Given the description of an element on the screen output the (x, y) to click on. 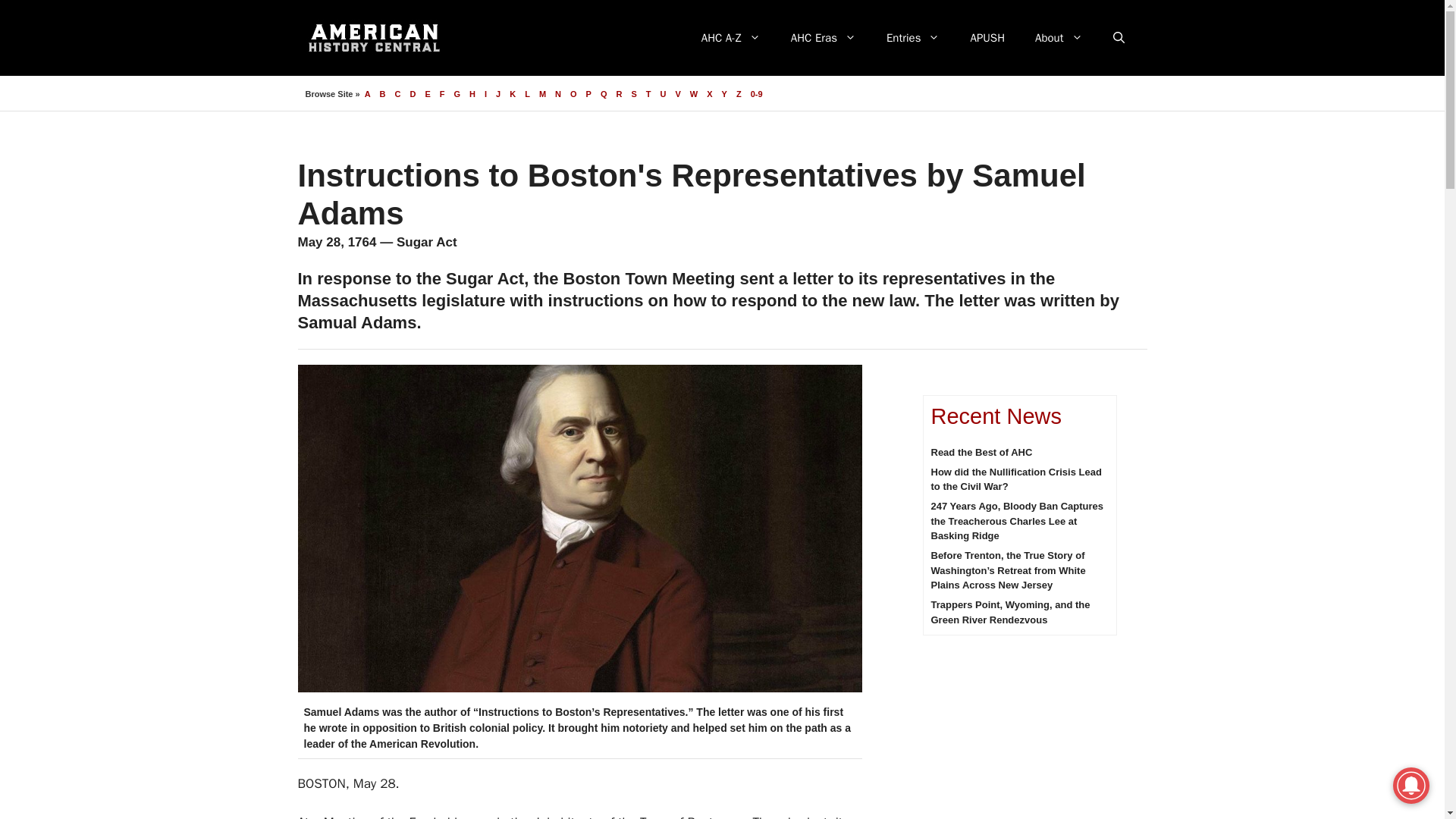
AHC A-Z (730, 37)
AHC Eras (823, 37)
